Given the description of an element on the screen output the (x, y) to click on. 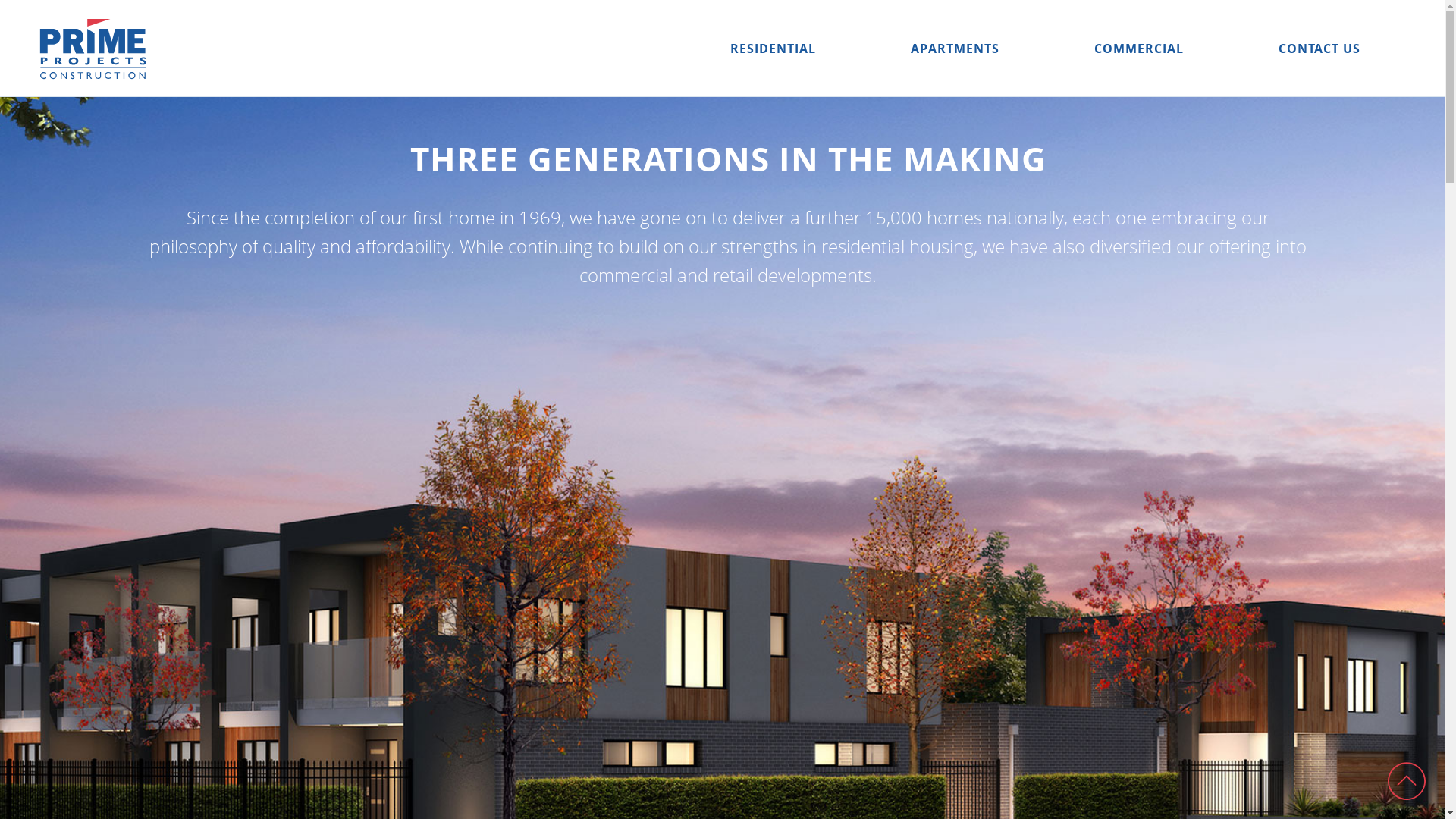
APARTMENTS Element type: text (954, 48)
COMMERCIAL Element type: text (1138, 48)
RESIDENTIAL Element type: text (772, 48)
CONTACT US Element type: text (1319, 48)
